Given the description of an element on the screen output the (x, y) to click on. 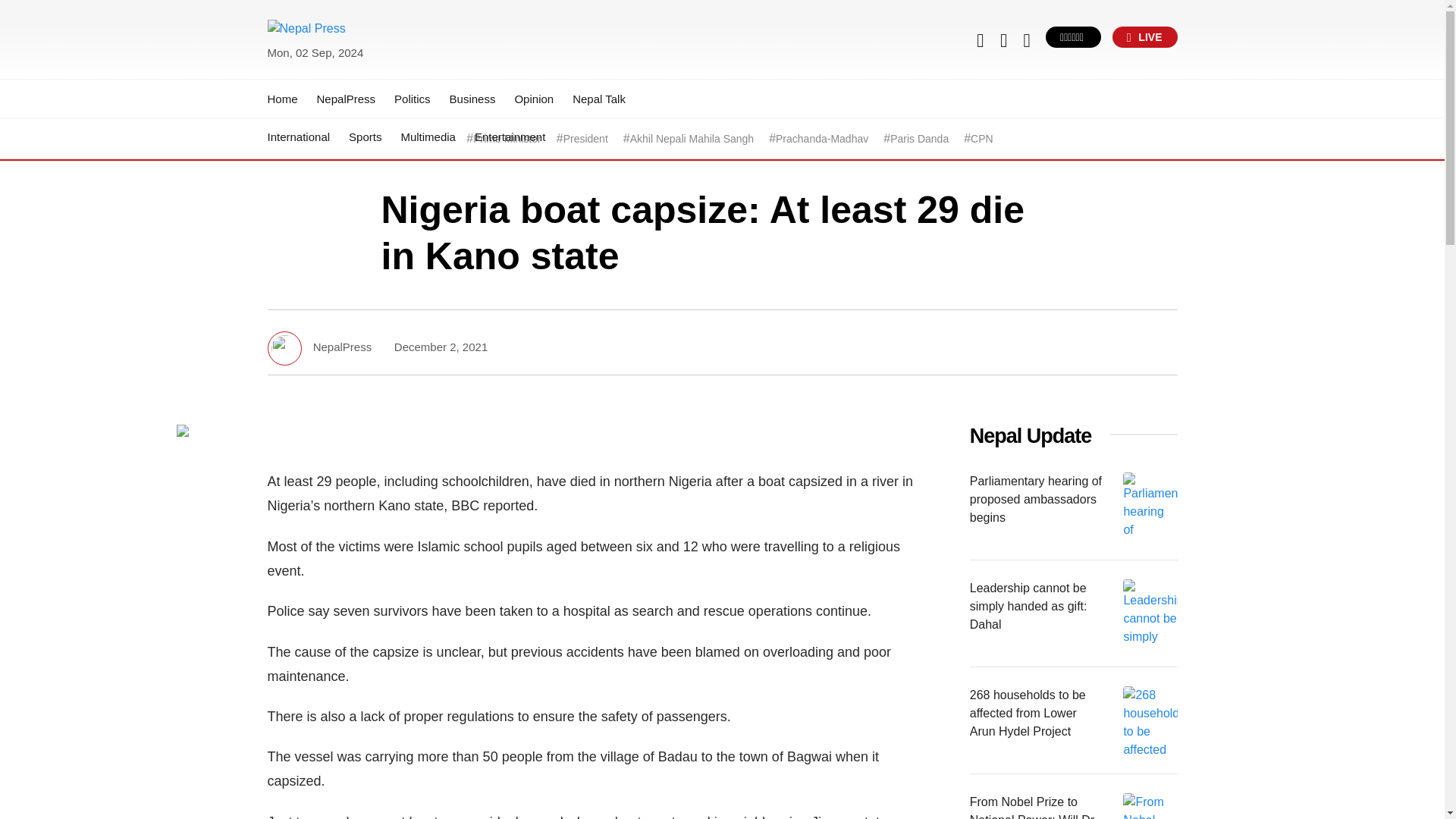
Akhil Nepali Mahila Sangh (692, 139)
Nepal Press (303, 71)
Multimedia (427, 136)
Prachanda-Madhav (821, 139)
SEARCH (1108, 44)
Prachanda-Madhav (821, 139)
CPN (981, 139)
NepalPress (346, 98)
Entertainment (509, 136)
Business (472, 98)
